Given the description of an element on the screen output the (x, y) to click on. 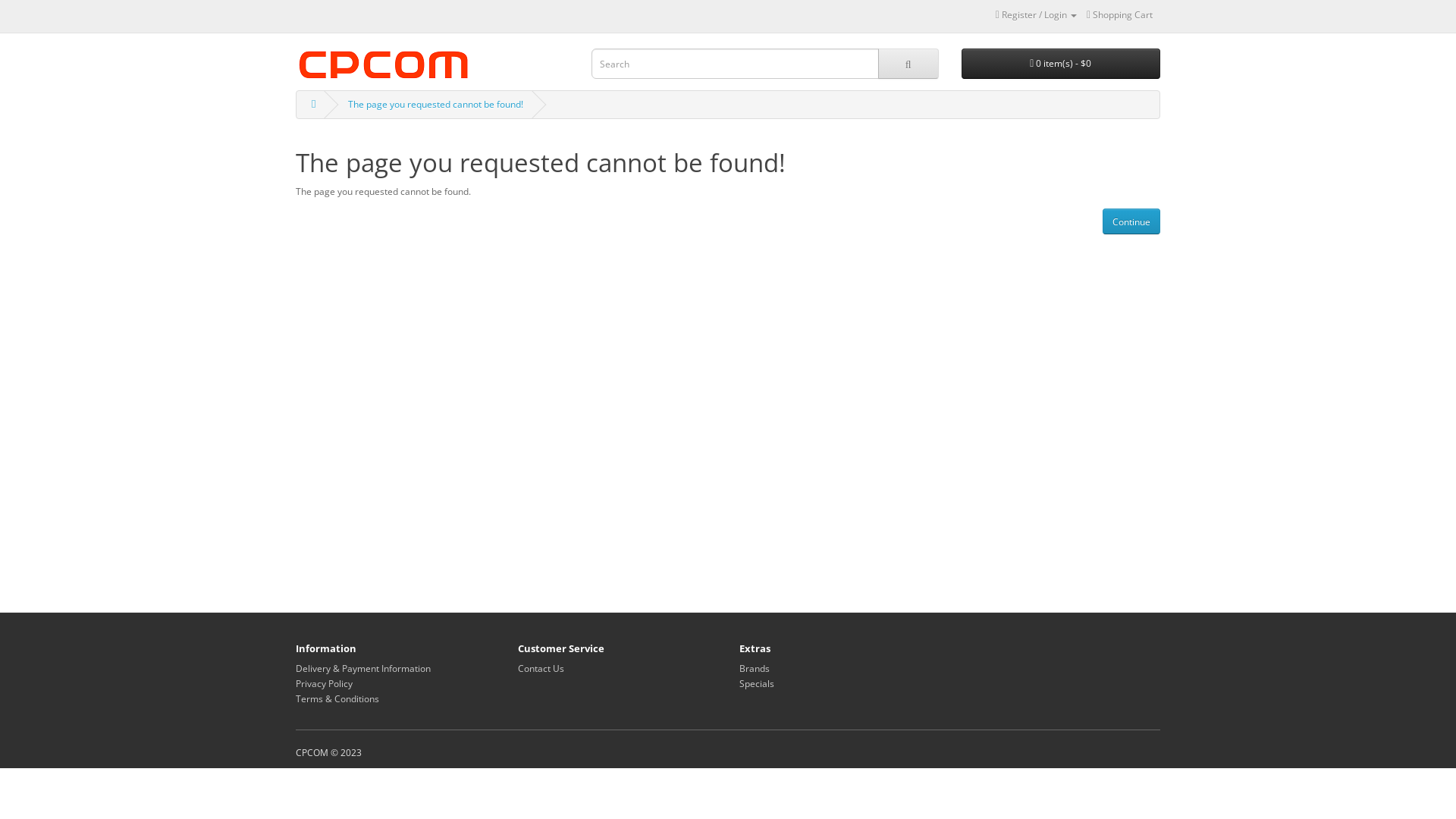
Shopping Cart Element type: text (1119, 14)
Brands Element type: text (754, 668)
0 item(s) - $0 Element type: text (1061, 63)
Specials Element type: text (756, 683)
Register / Login Element type: text (1035, 14)
Contact Us Element type: text (540, 668)
CPCOM Element type: hover (384, 65)
Continue Element type: text (1131, 221)
Delivery & Payment Information Element type: text (362, 668)
The page you requested cannot be found! Element type: text (435, 103)
Terms & Conditions Element type: text (337, 698)
Privacy Policy Element type: text (323, 683)
